Given the description of an element on the screen output the (x, y) to click on. 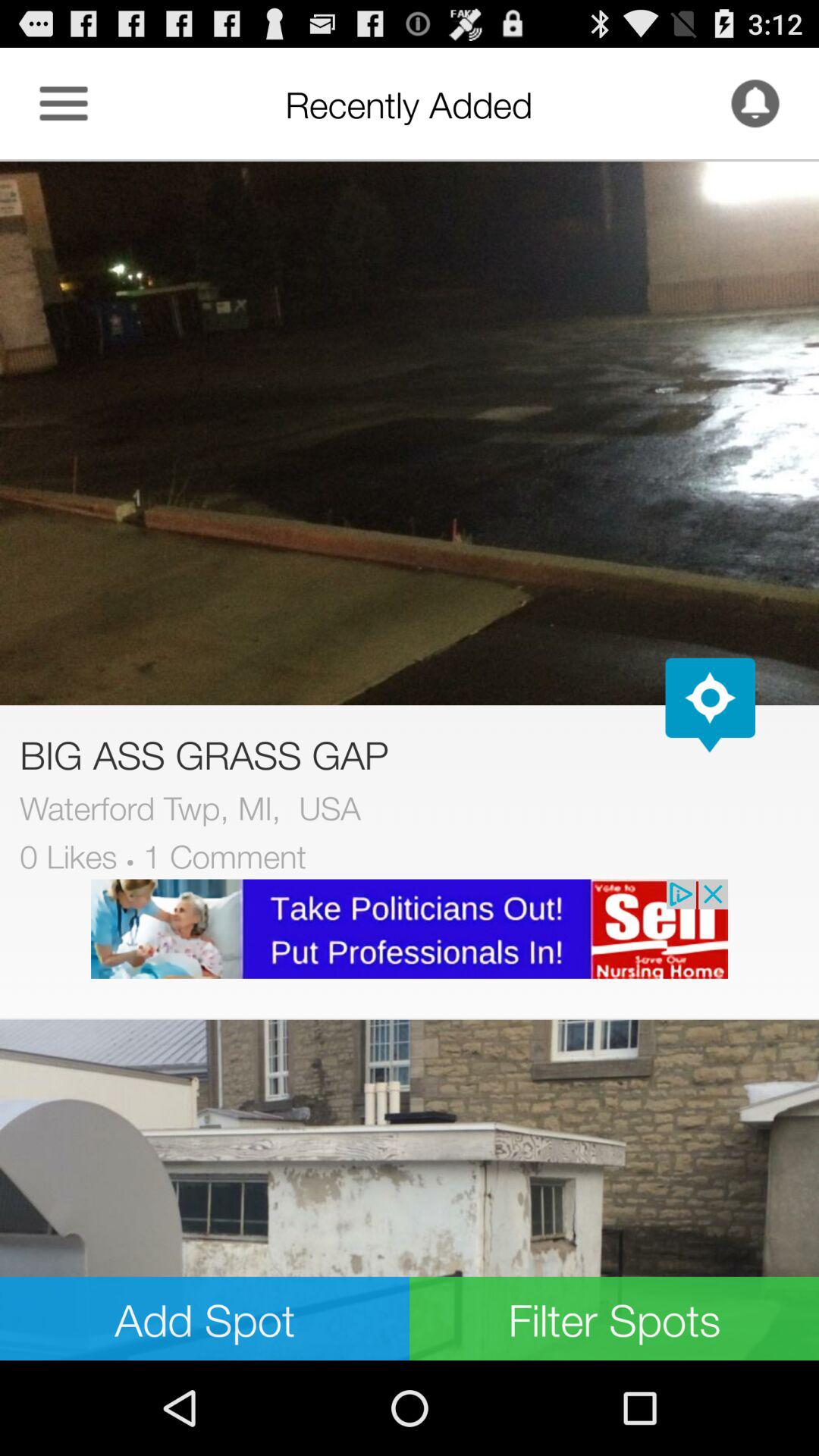
options (63, 103)
